Given the description of an element on the screen output the (x, y) to click on. 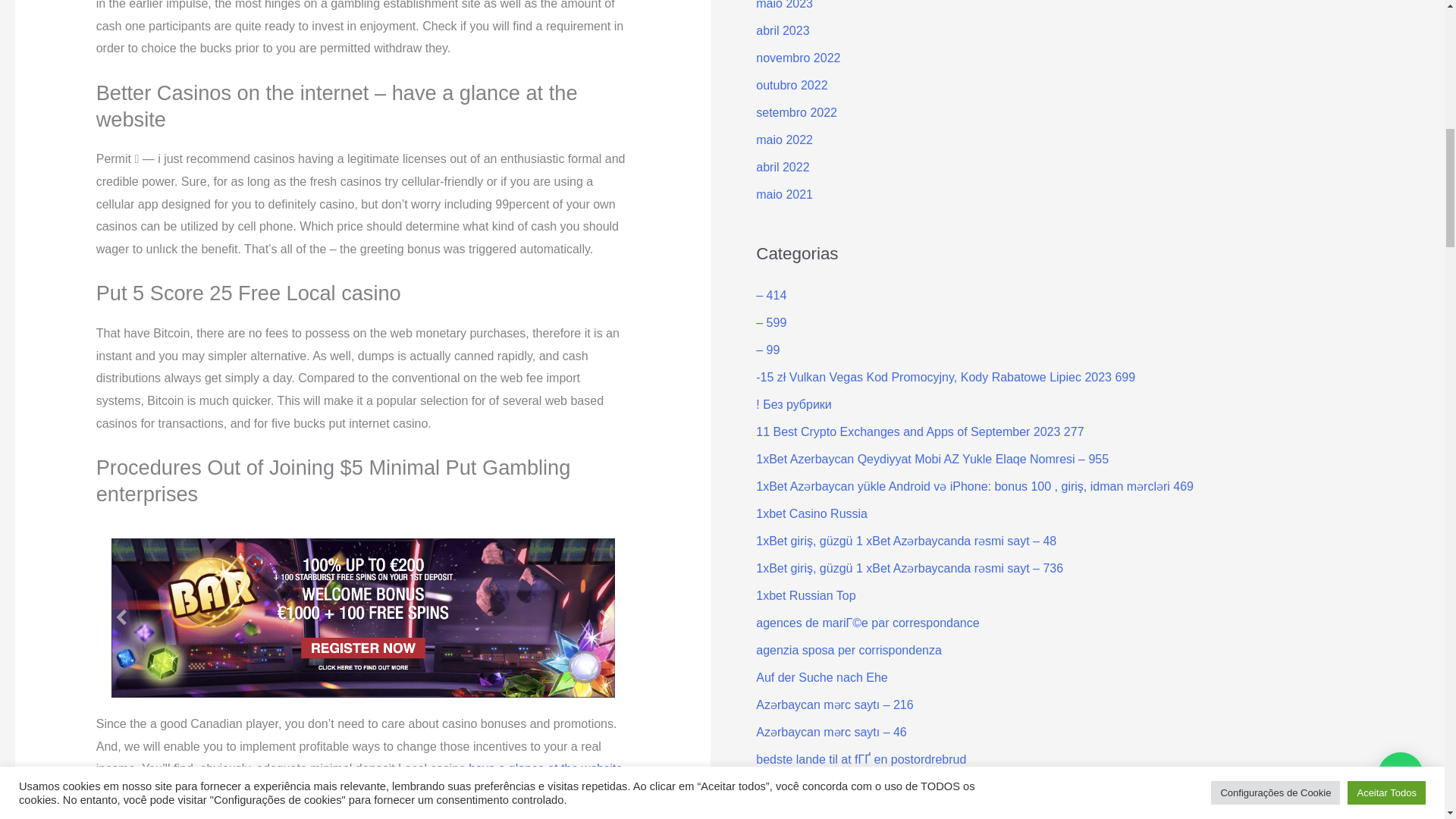
have a glance at the website (545, 768)
